Given the description of an element on the screen output the (x, y) to click on. 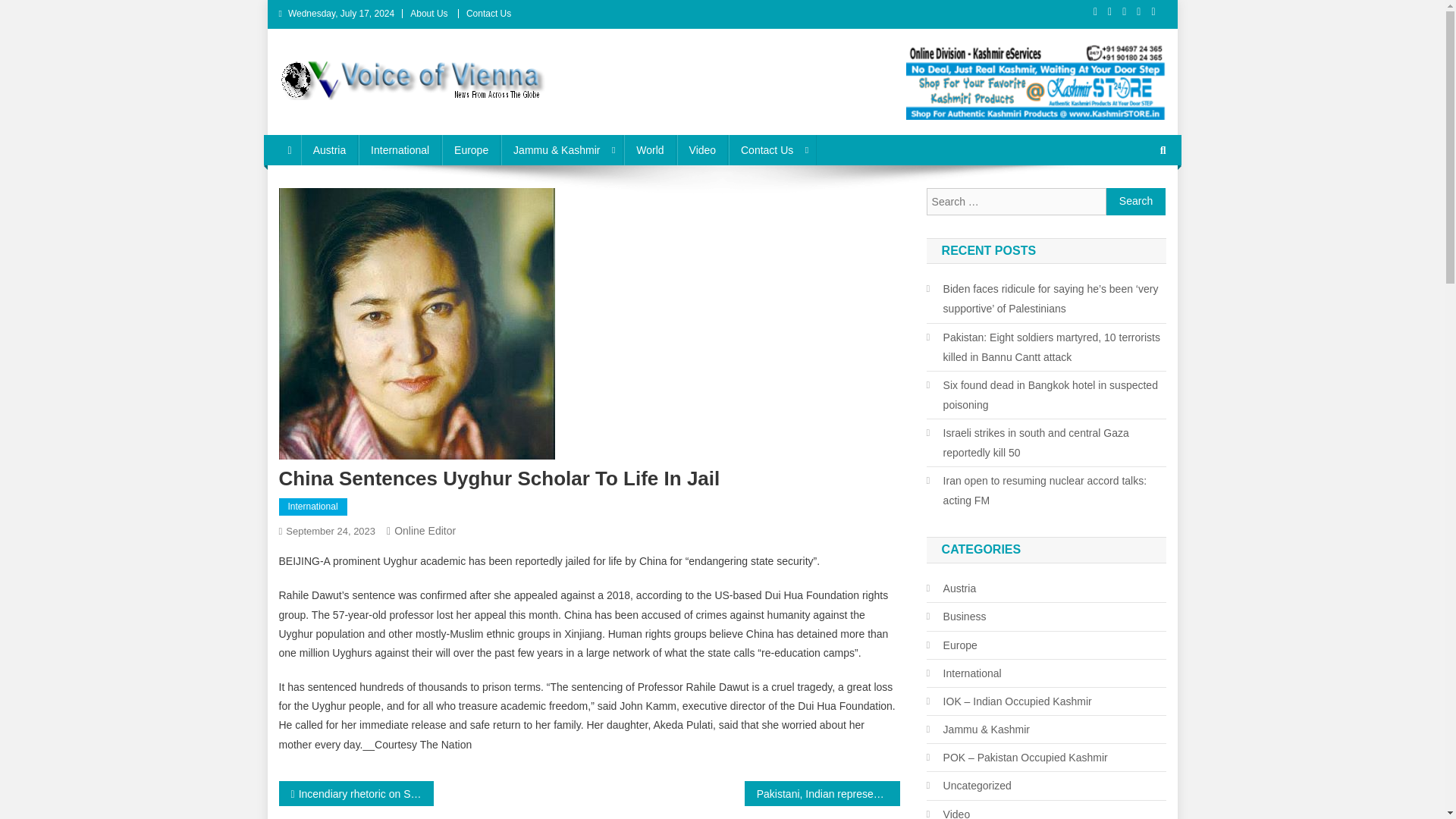
Search (1136, 201)
Austria (329, 150)
September 24, 2023 (330, 531)
Search (1133, 200)
About Us (428, 13)
Contact Us (772, 150)
Online Editor (424, 530)
Search (1136, 201)
Video (703, 150)
Europe (471, 150)
International (313, 506)
Contact Us (488, 13)
World (649, 150)
Voice of Vienna (368, 114)
